Given the description of an element on the screen output the (x, y) to click on. 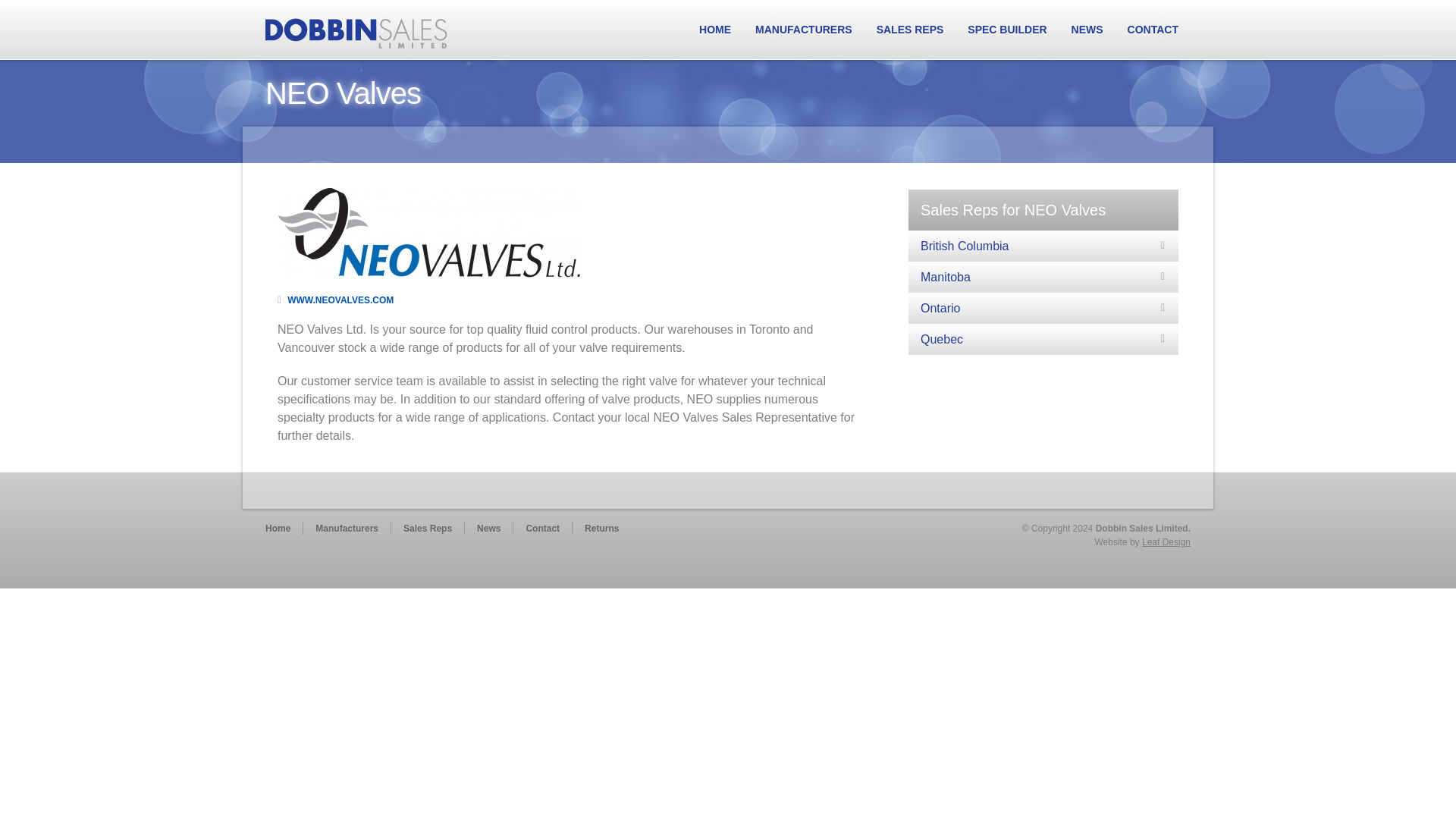
SPEC BUILDER (1006, 29)
Dobbin Sales (355, 31)
HOME (714, 29)
MANUFACTURERS (803, 29)
CONTACT (1153, 29)
Manitoba (1042, 277)
British Columbia (1042, 245)
WWW.NEOVALVES.COM (335, 299)
SALES REPS (910, 29)
NEWS (1087, 29)
